Given the description of an element on the screen output the (x, y) to click on. 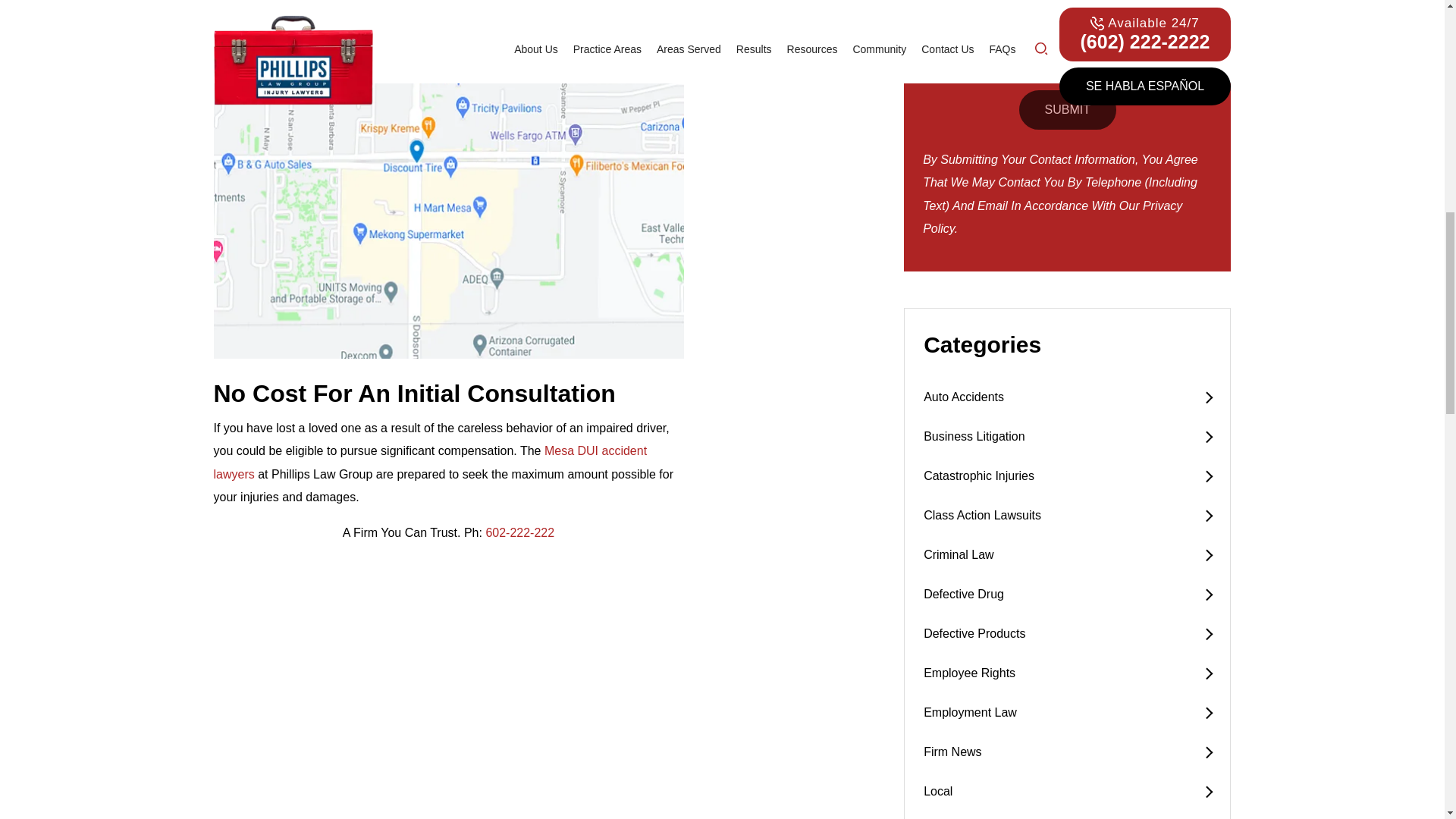
View all post filed under Defective Products (1067, 633)
View all post filed under Auto Accidents (1067, 396)
View all post filed under Catastrophic Injuries (1067, 476)
View all post filed under Local (1067, 791)
View all post filed under Business Litigation (1067, 436)
View all post filed under Defective Drug (1067, 594)
View all post filed under Class Action Lawsuits (1067, 515)
View all post filed under Criminal Law (1067, 554)
Submit (1067, 109)
View all post filed under Employee Rights (1067, 672)
View all post filed under Medical Malpractice (1067, 815)
View all post filed under Employment Law (1067, 712)
View all post filed under Firm News (1067, 752)
